Given the description of an element on the screen output the (x, y) to click on. 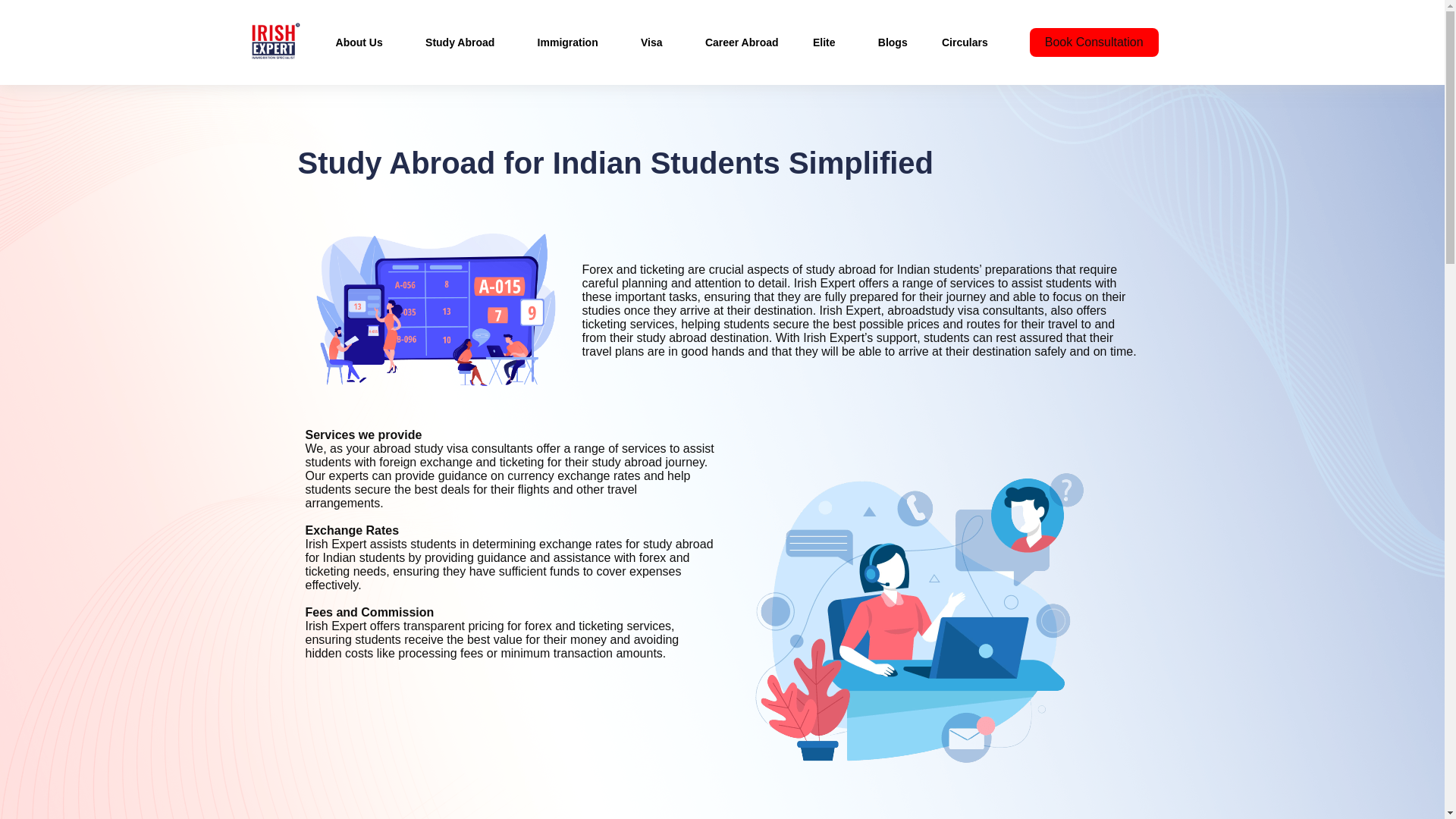
Blogs (892, 42)
Career Abroad (742, 42)
Immigration (571, 42)
Circulars (964, 42)
Visa (655, 42)
Elite (829, 42)
Book Consultation (1093, 41)
Study Abroad (463, 42)
About Us (363, 42)
